Given the description of an element on the screen output the (x, y) to click on. 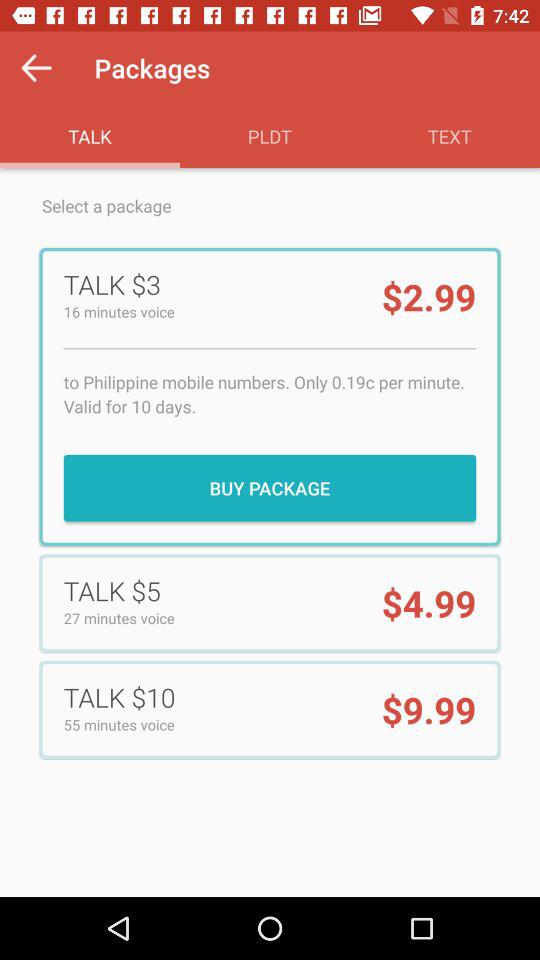
select the buy package item (269, 487)
